Given the description of an element on the screen output the (x, y) to click on. 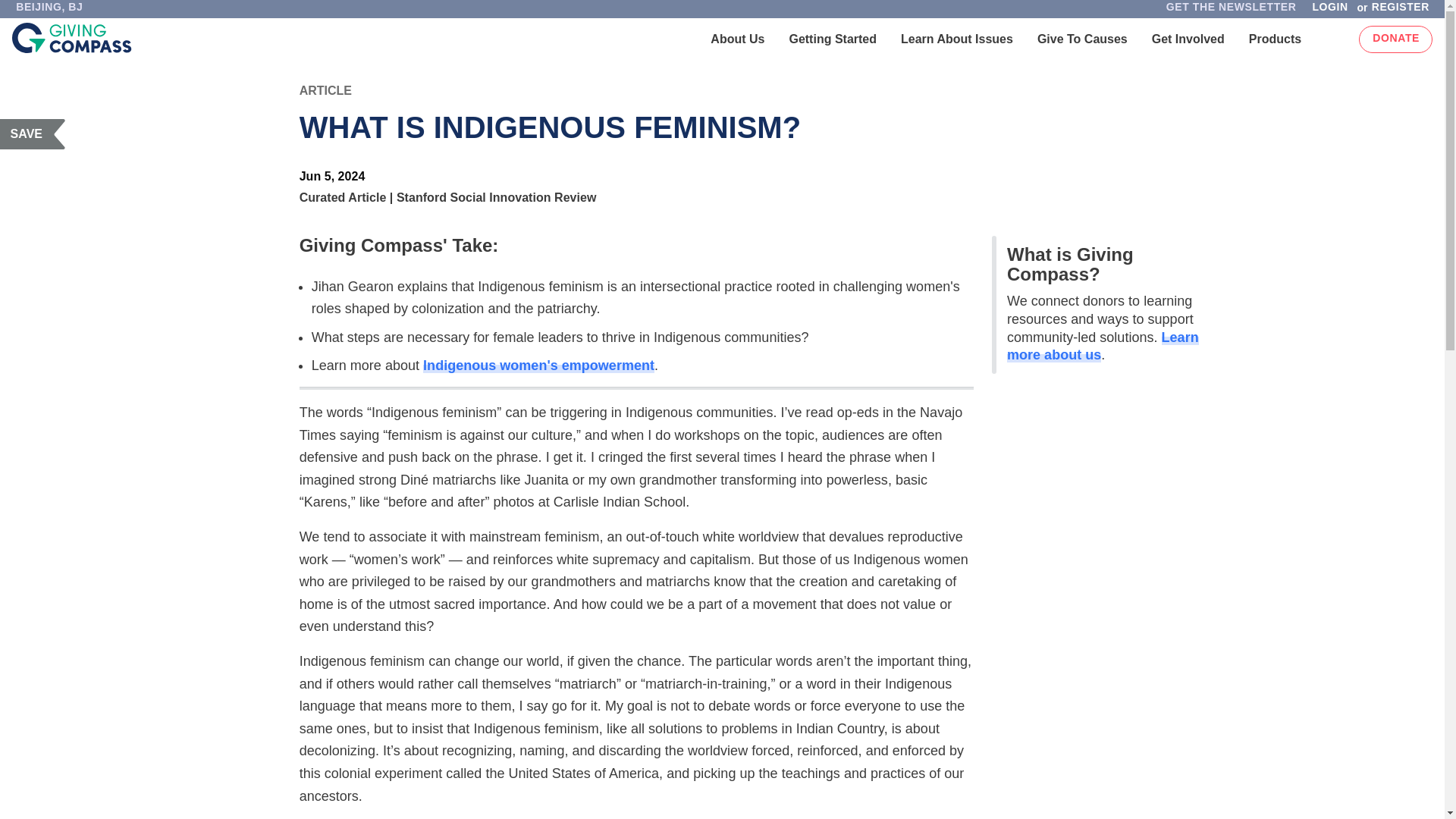
LOGIN (1329, 10)
DONATE (1395, 39)
GET THE NEWSLETTER (1231, 10)
REGISTER (1404, 10)
Learn more about us (1102, 346)
BEIJING, BJ (48, 10)
SAVE (33, 134)
Indigenous women's empowerment (538, 365)
